Given the description of an element on the screen output the (x, y) to click on. 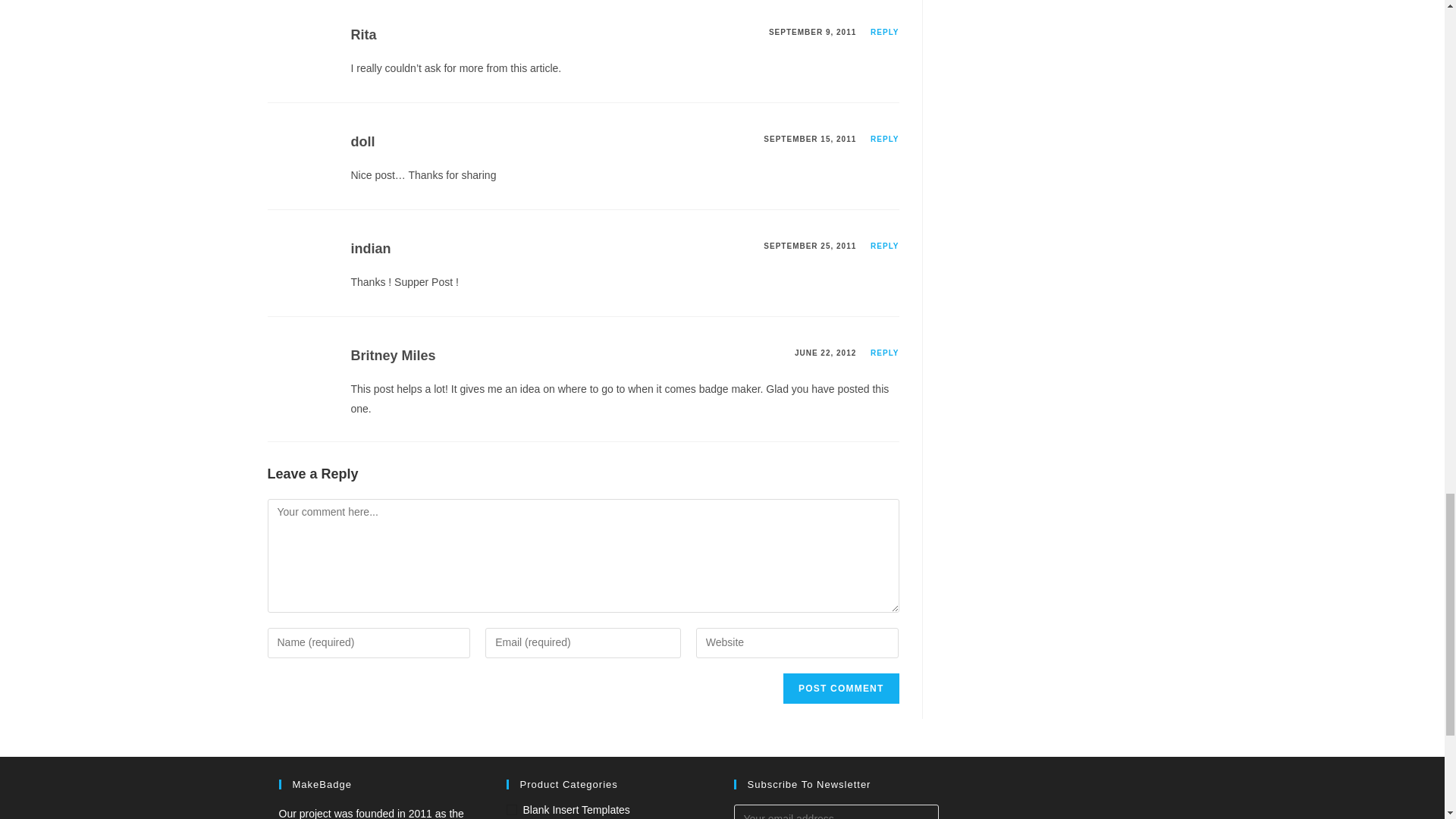
Post Comment (840, 688)
